Given the description of an element on the screen output the (x, y) to click on. 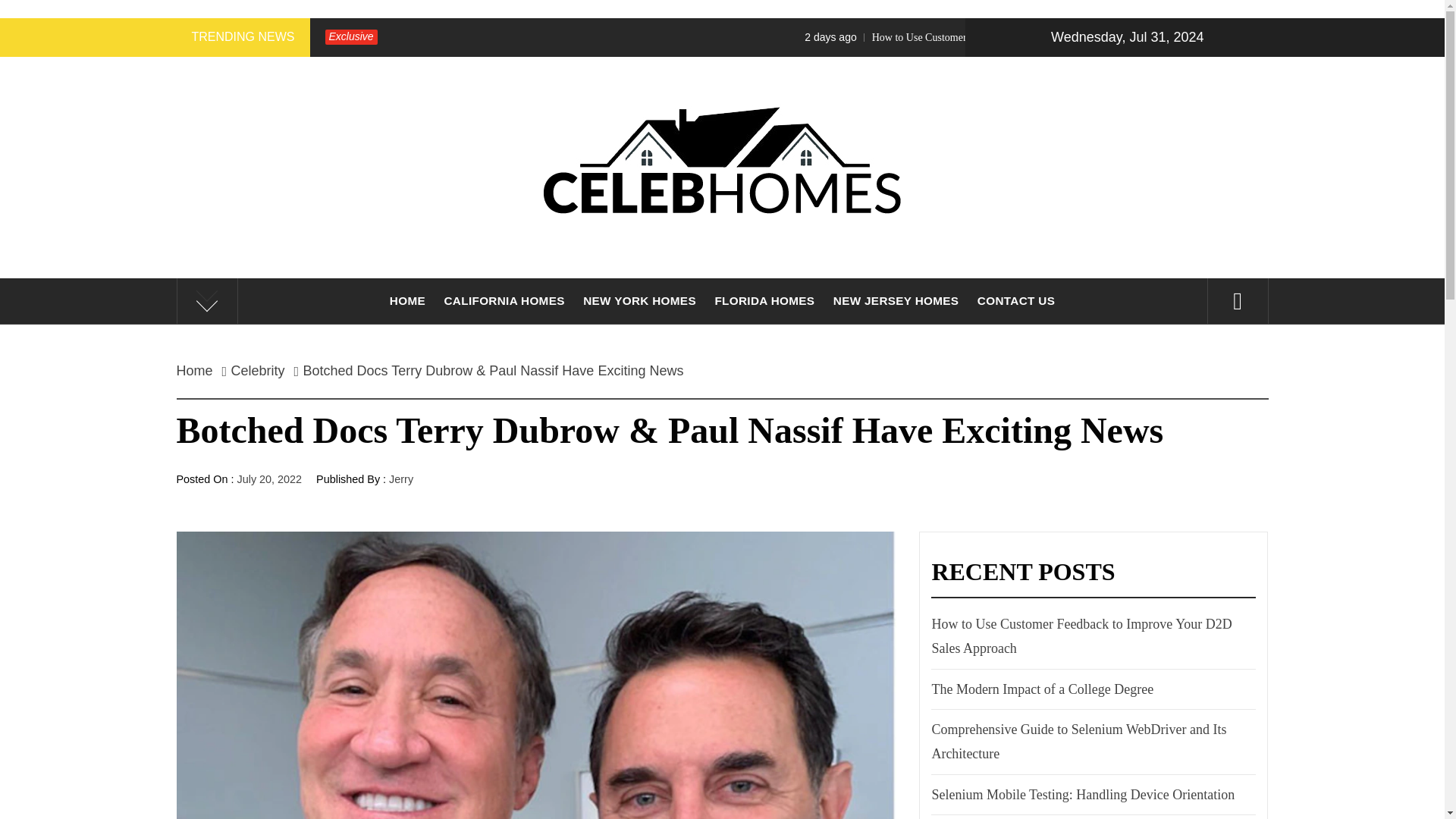
NEW YORK HOMES (639, 300)
NEW JERSEY HOMES (895, 300)
CONTACT US (1015, 300)
Home (198, 370)
Search (797, 37)
CELEBRITY HOMES (721, 296)
FLORIDA HOMES (764, 300)
CALIFORNIA HOMES (504, 300)
HOME (406, 300)
